Given the description of an element on the screen output the (x, y) to click on. 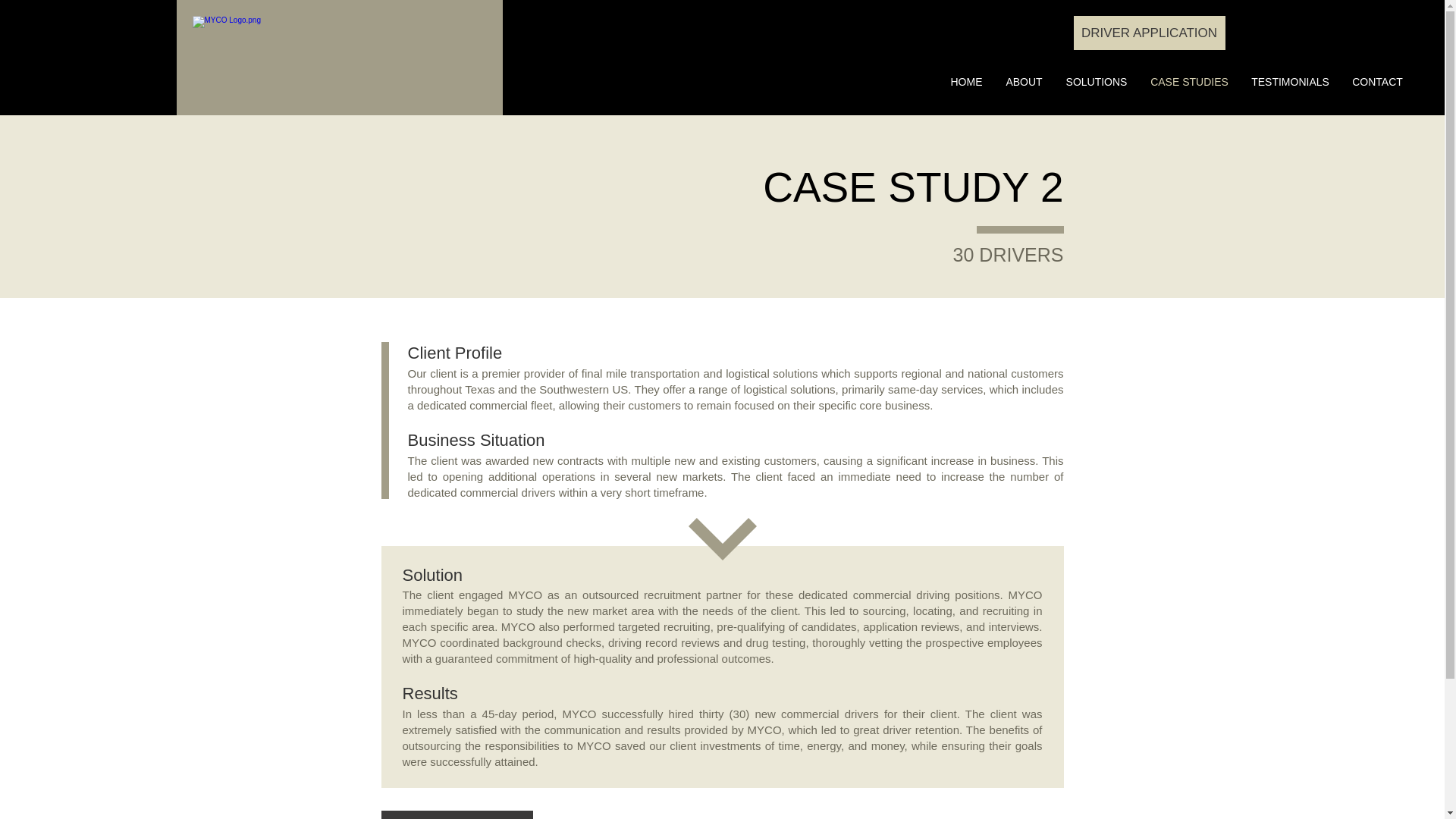
SOLUTIONS (1096, 81)
HOME (966, 81)
TESTIMONIALS (1290, 81)
CONTACT (1376, 81)
ABOUT (1024, 81)
BACK TO CASE STUDIES (456, 814)
CASE STUDIES (1189, 81)
MYCO logo.png (339, 56)
DRIVER APPLICATION (1149, 32)
